Given the description of an element on the screen output the (x, y) to click on. 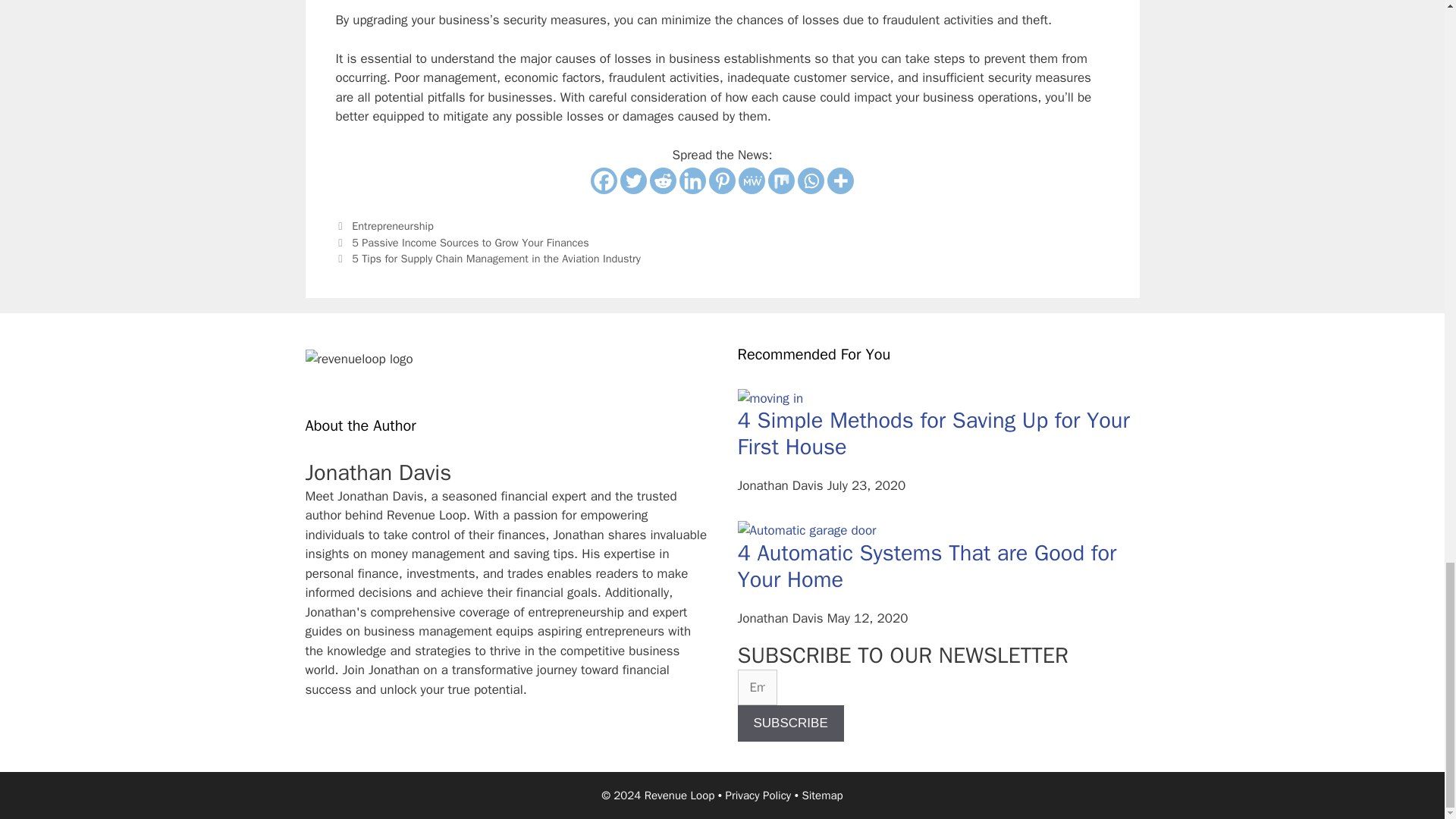
Sitemap (822, 795)
Privacy Policy (758, 795)
Mix (781, 180)
Whatsapp (810, 180)
Linkedin (692, 180)
MeWe (751, 180)
SUBSCRIBE (789, 723)
Pinterest (722, 180)
4 Simple Methods for Saving Up for Your First House (932, 433)
5 Passive Income Sources to Grow Your Finances (470, 242)
